Given the description of an element on the screen output the (x, y) to click on. 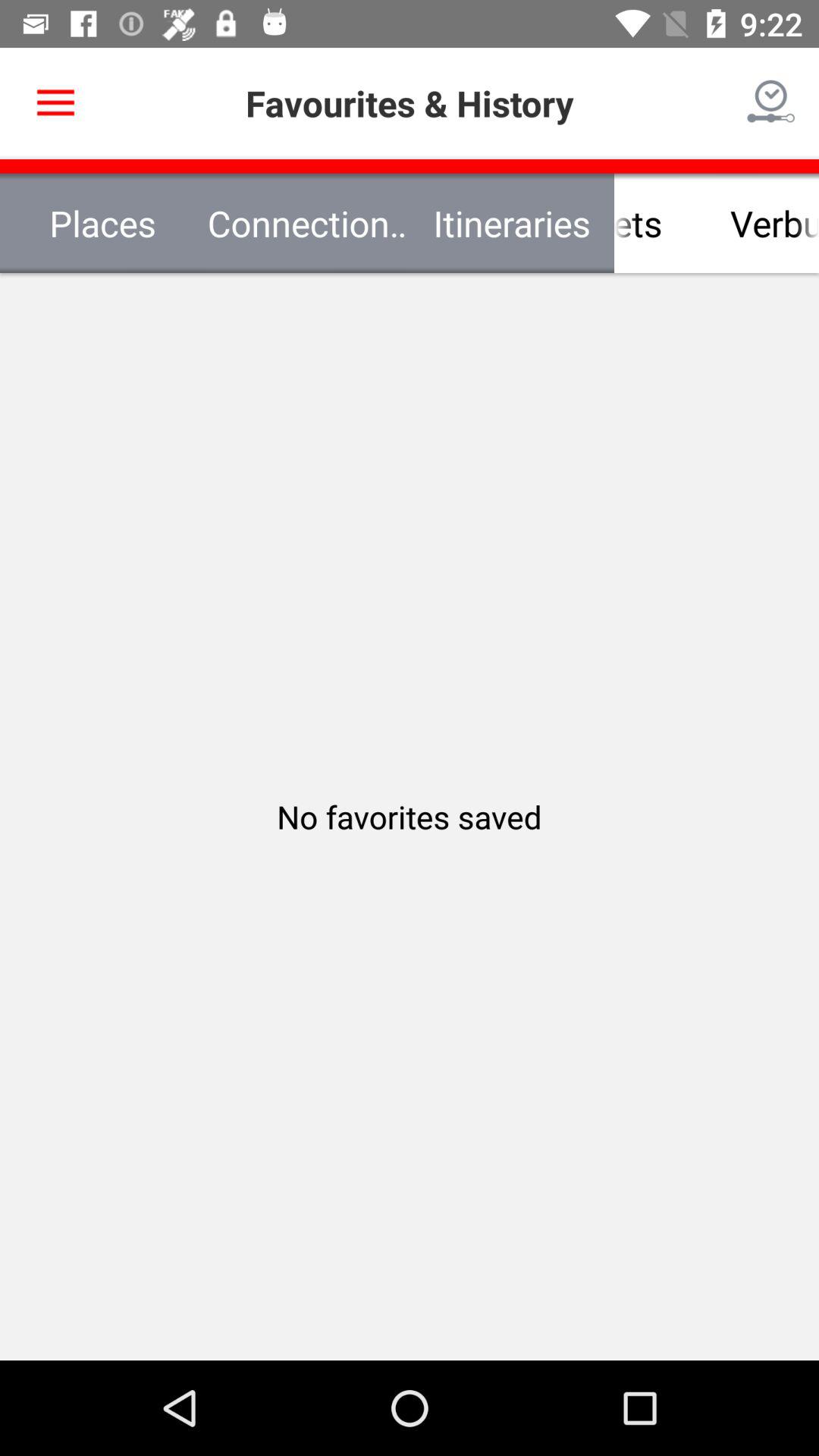
tap the item to the left of itineraries icon (306, 223)
